Given the description of an element on the screen output the (x, y) to click on. 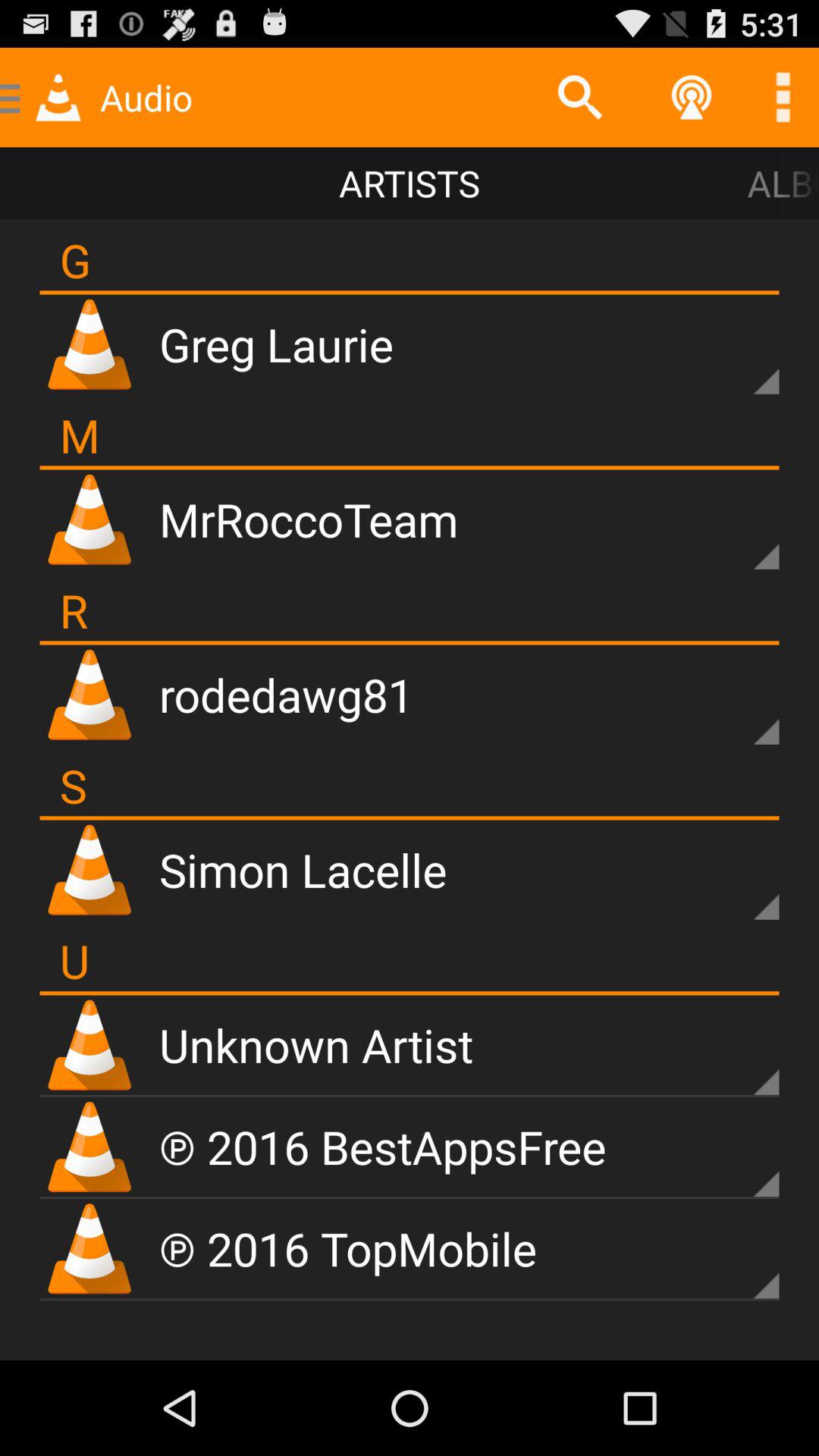
turn on the u (74, 960)
